Given the description of an element on the screen output the (x, y) to click on. 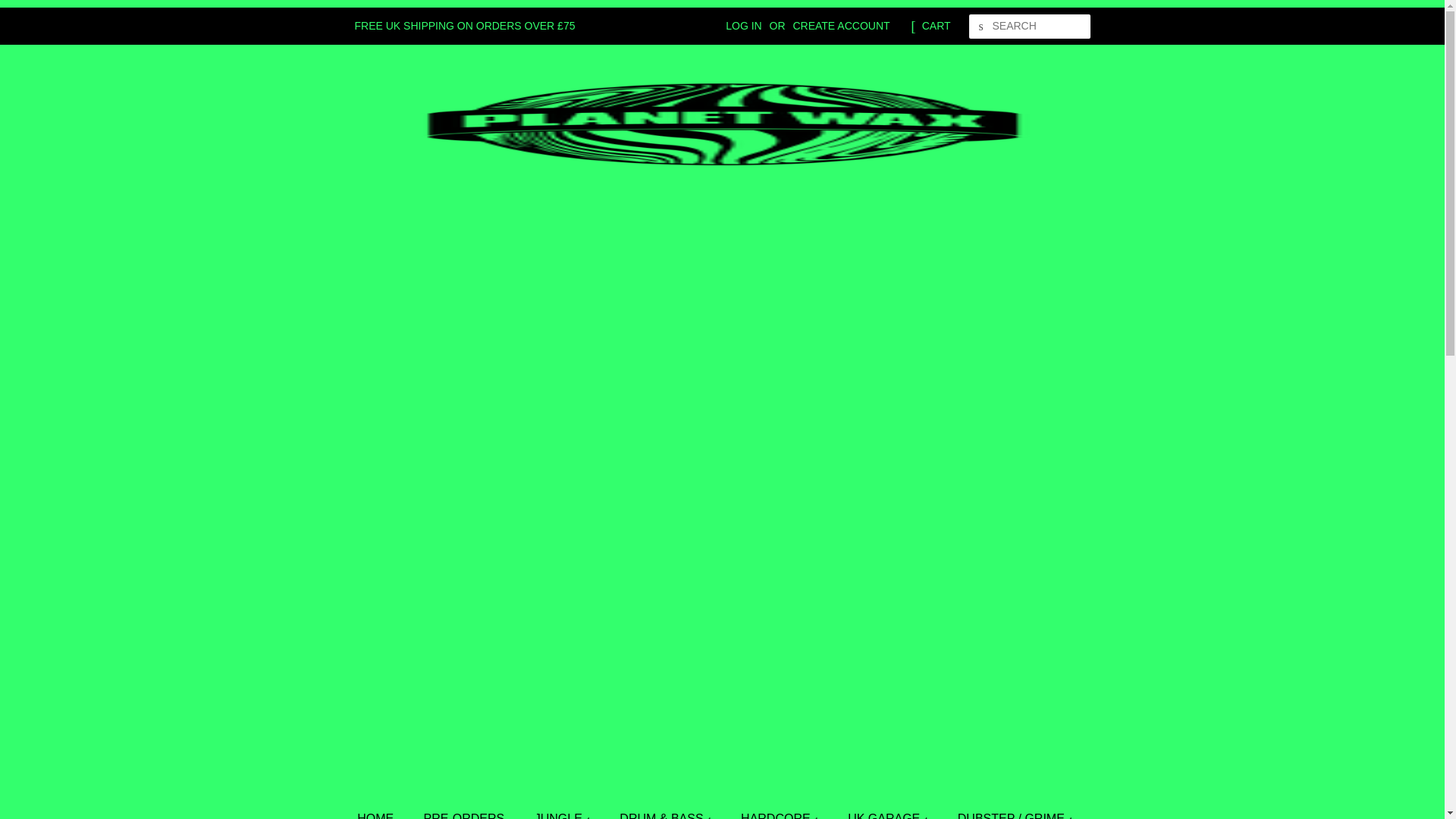
LOG IN (743, 25)
CART (935, 26)
SEARCH (980, 26)
CREATE ACCOUNT (840, 25)
